Given the description of an element on the screen output the (x, y) to click on. 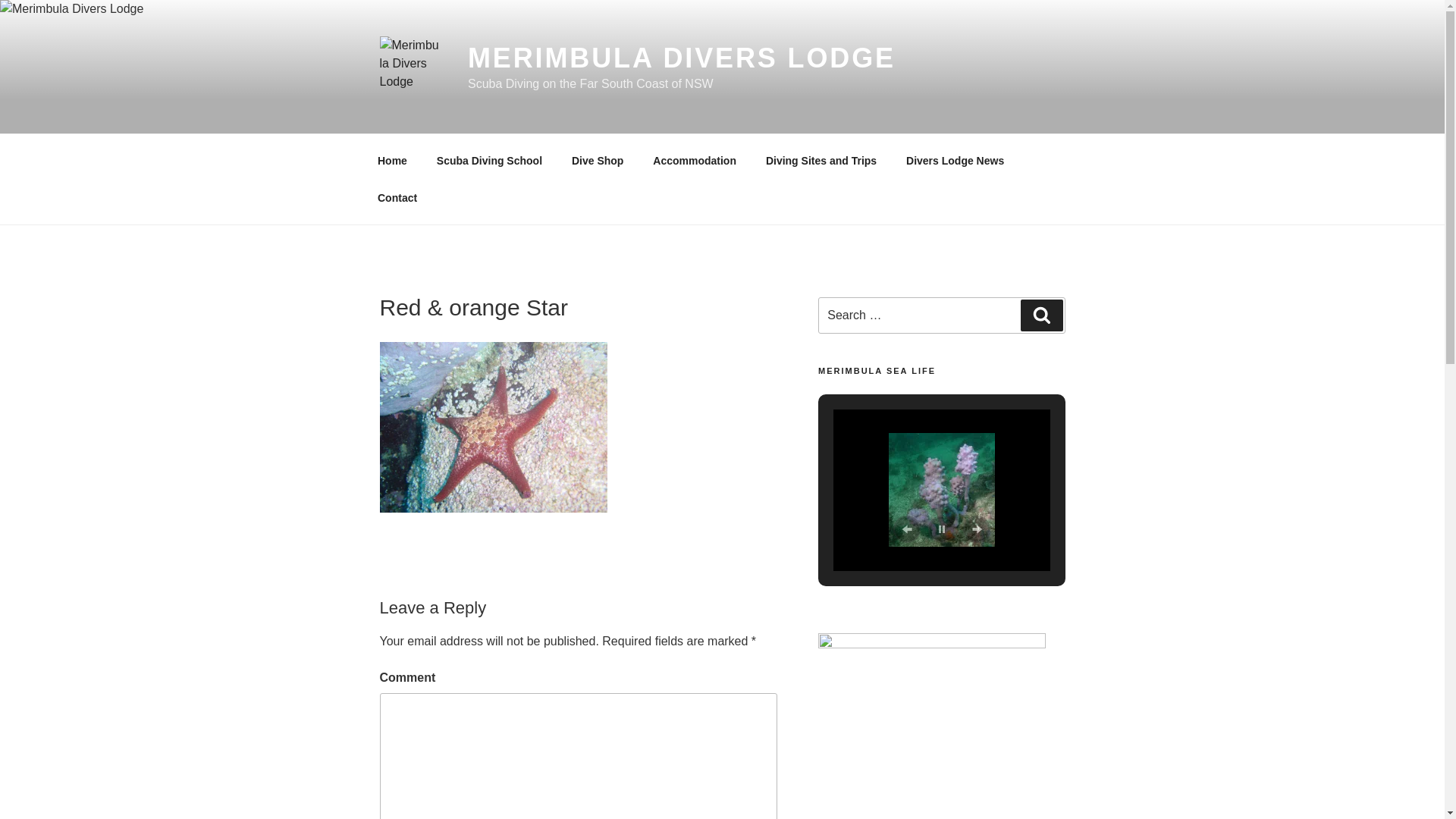
Home Element type: text (392, 160)
Accommodation Element type: text (694, 160)
Divers Lodge News Element type: text (955, 160)
ascidian (maybe) Element type: hover (941, 490)
Contact Element type: text (396, 197)
Diving Sites and Trips Element type: text (820, 160)
Search Element type: text (1041, 315)
Scuba Diving School Element type: text (489, 160)
MERIMBULA DIVERS LODGE Element type: text (681, 57)
Dive Shop Element type: text (597, 160)
